Given the description of an element on the screen output the (x, y) to click on. 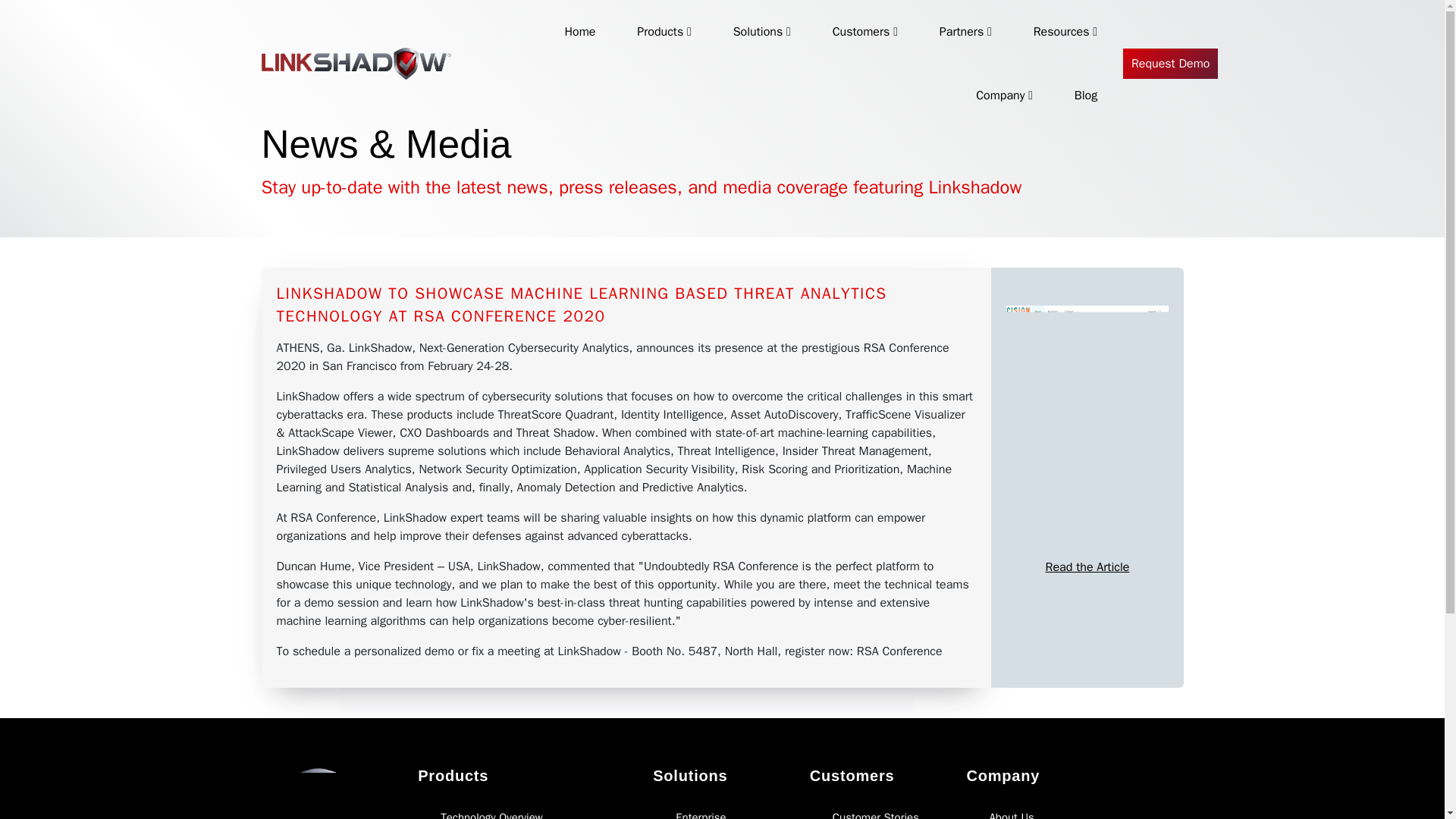
Home (580, 31)
Resources (1065, 31)
Customers (865, 31)
Products (663, 31)
Solutions (761, 31)
Partners (964, 31)
